Given the description of an element on the screen output the (x, y) to click on. 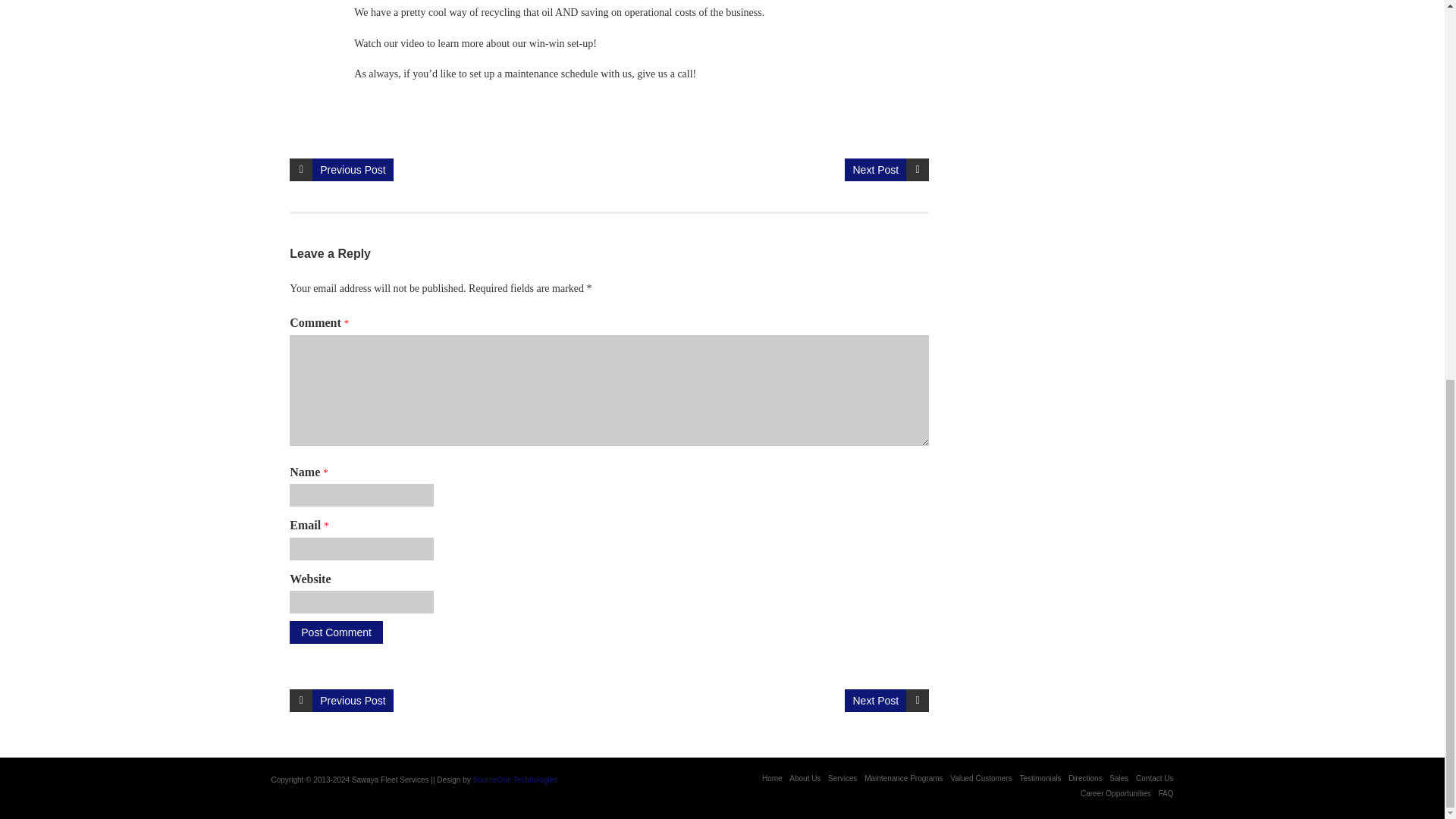
Post Comment (335, 631)
Previous Post (353, 169)
Previous Post (353, 700)
Post Comment (335, 631)
Next Post (874, 700)
Next Post (874, 169)
